Given the description of an element on the screen output the (x, y) to click on. 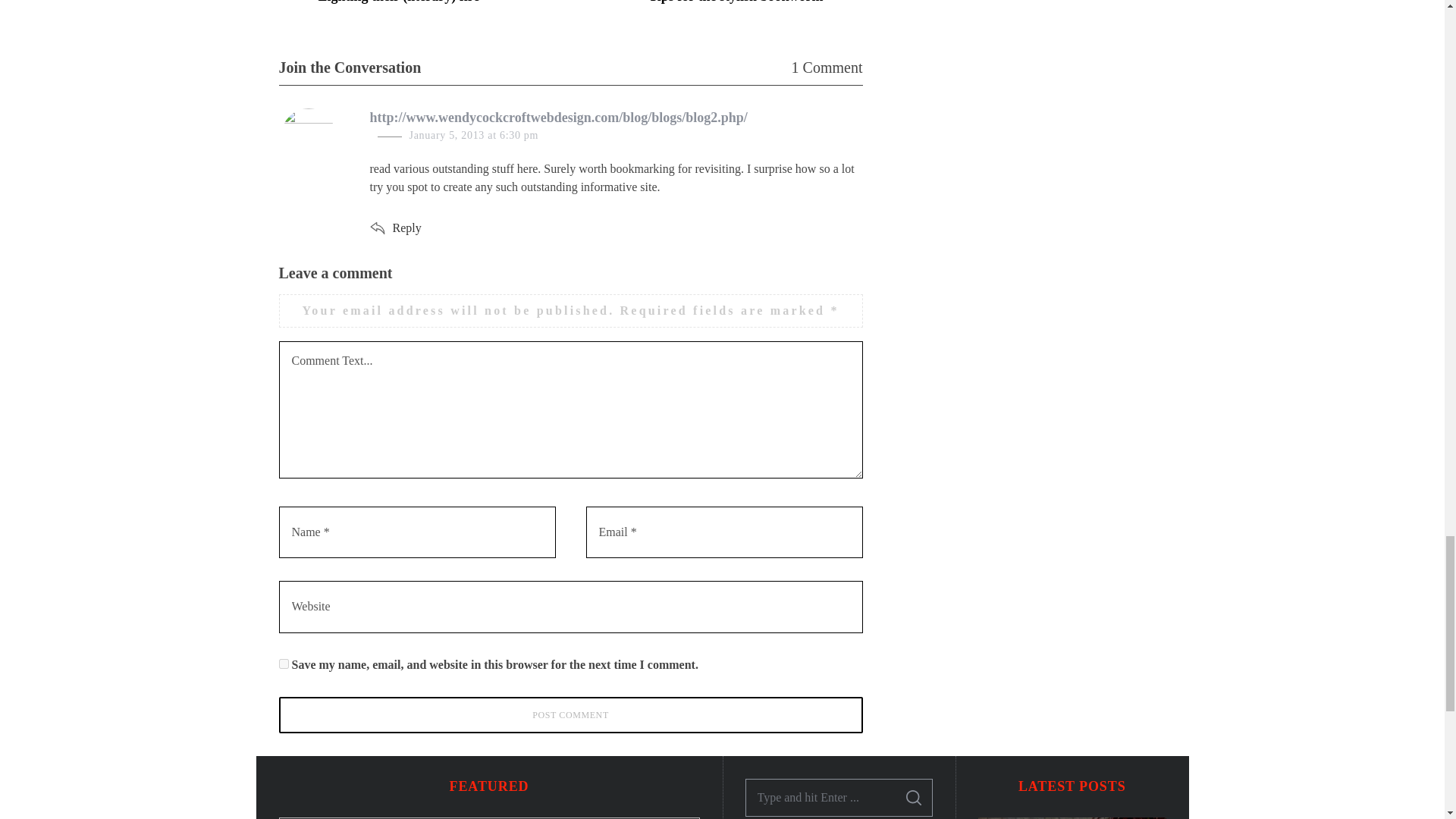
yes (283, 664)
January 5, 2013 at 6:30 pm (473, 134)
Post Comment (571, 714)
